Given the description of an element on the screen output the (x, y) to click on. 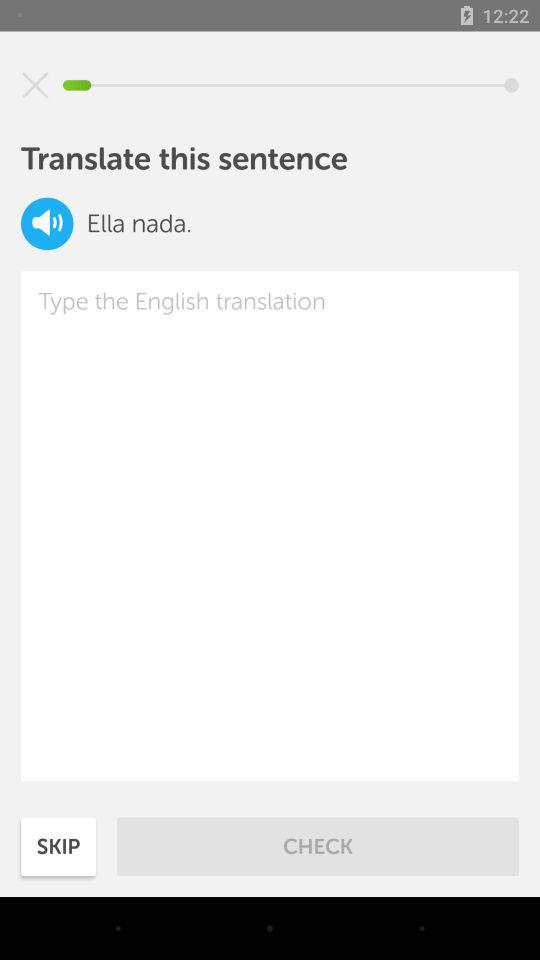
select item next to check icon (58, 846)
